Given the description of an element on the screen output the (x, y) to click on. 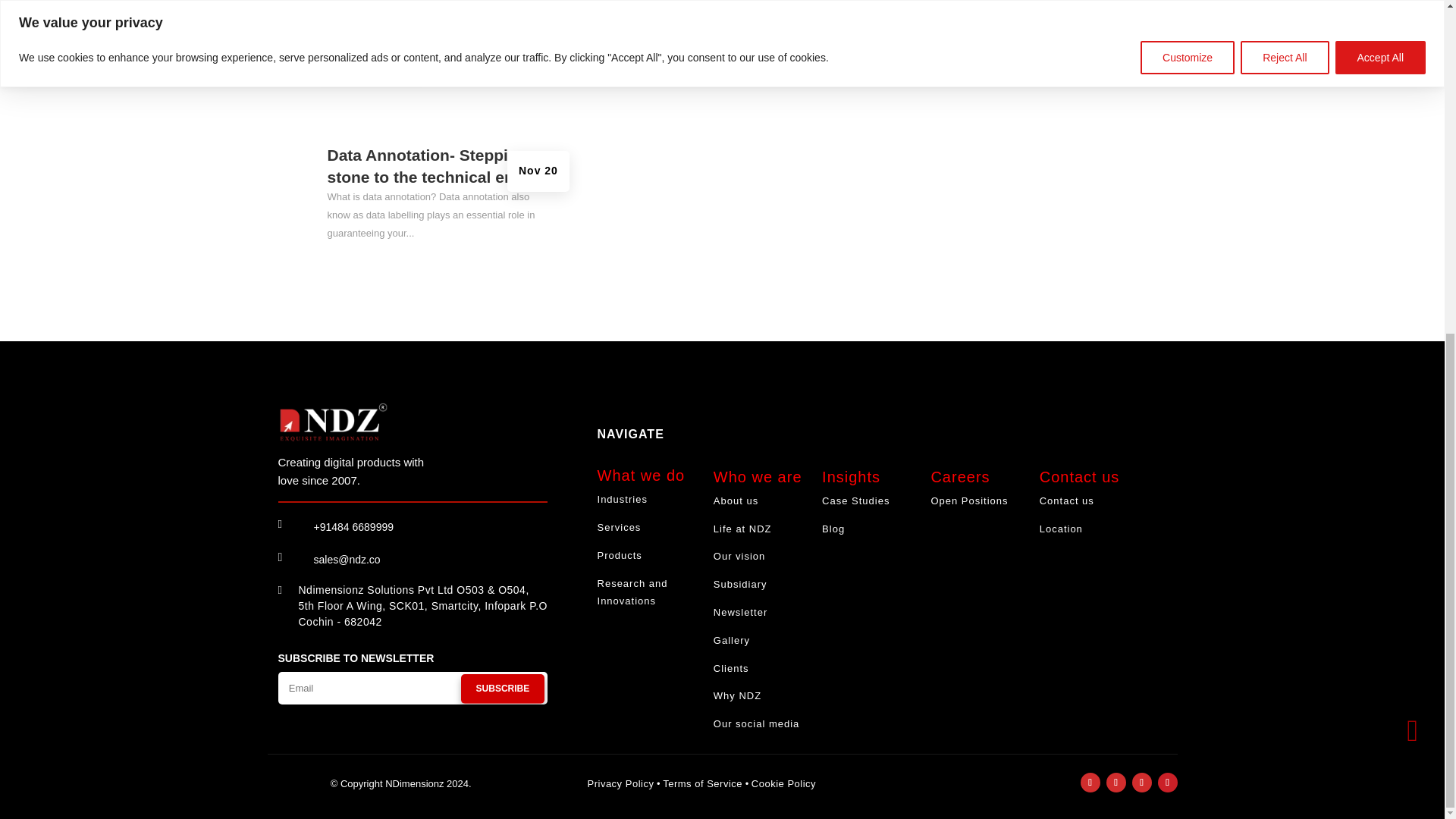
Follow on Instagram (1115, 782)
Follow on Pinterest (1166, 782)
ndzlogo-1-1 (333, 422)
Follow on LinkedIn (1141, 782)
Follow on Facebook (1089, 782)
